Given the description of an element on the screen output the (x, y) to click on. 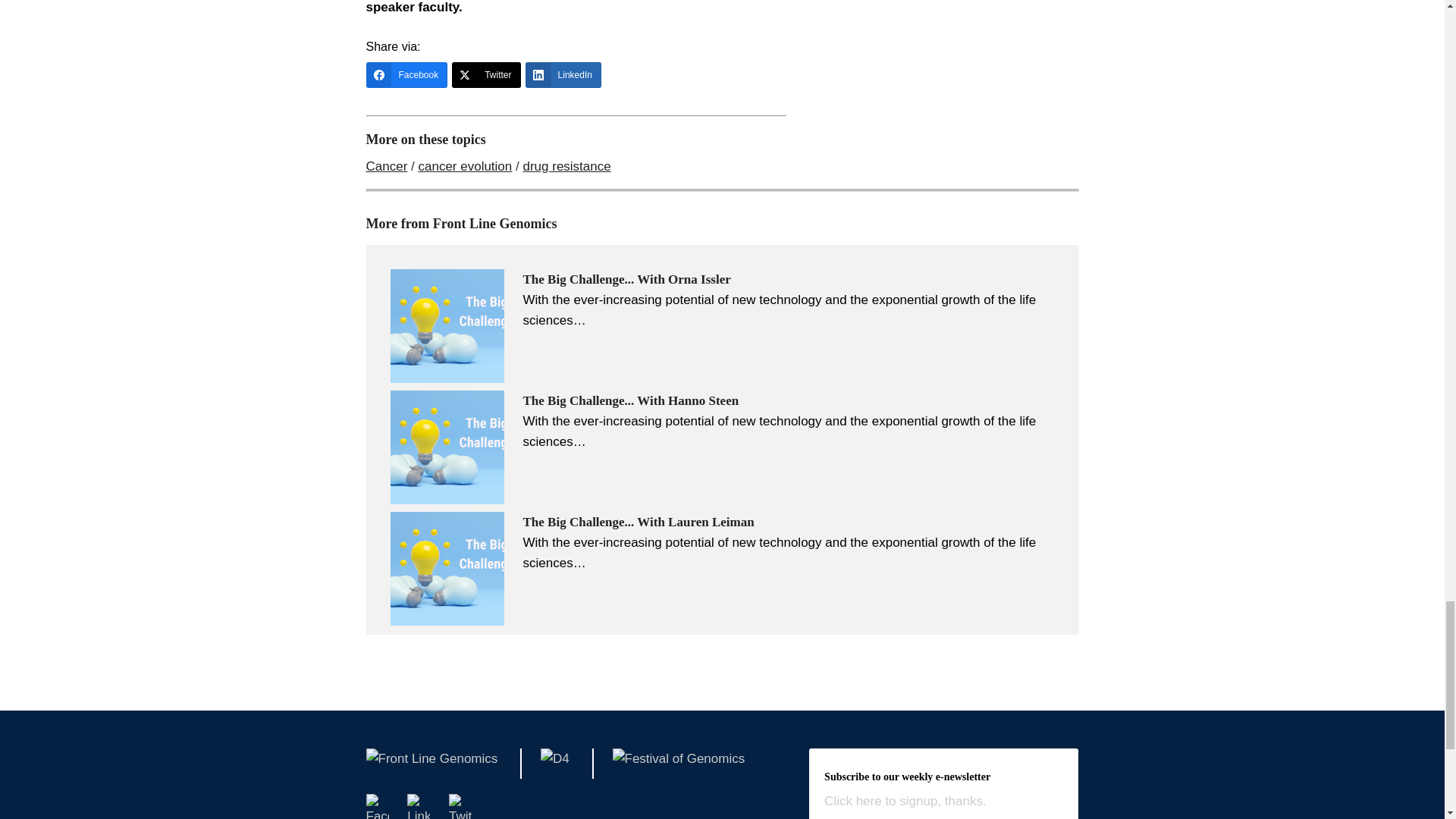
Festival of Genomics (678, 763)
LinkedIn (563, 74)
Twitter (485, 74)
LinkedIn (418, 806)
Facebook (405, 74)
Front Line Genomics (431, 763)
Twitter (459, 806)
Facebook (376, 806)
D4 (554, 763)
